Given the description of an element on the screen output the (x, y) to click on. 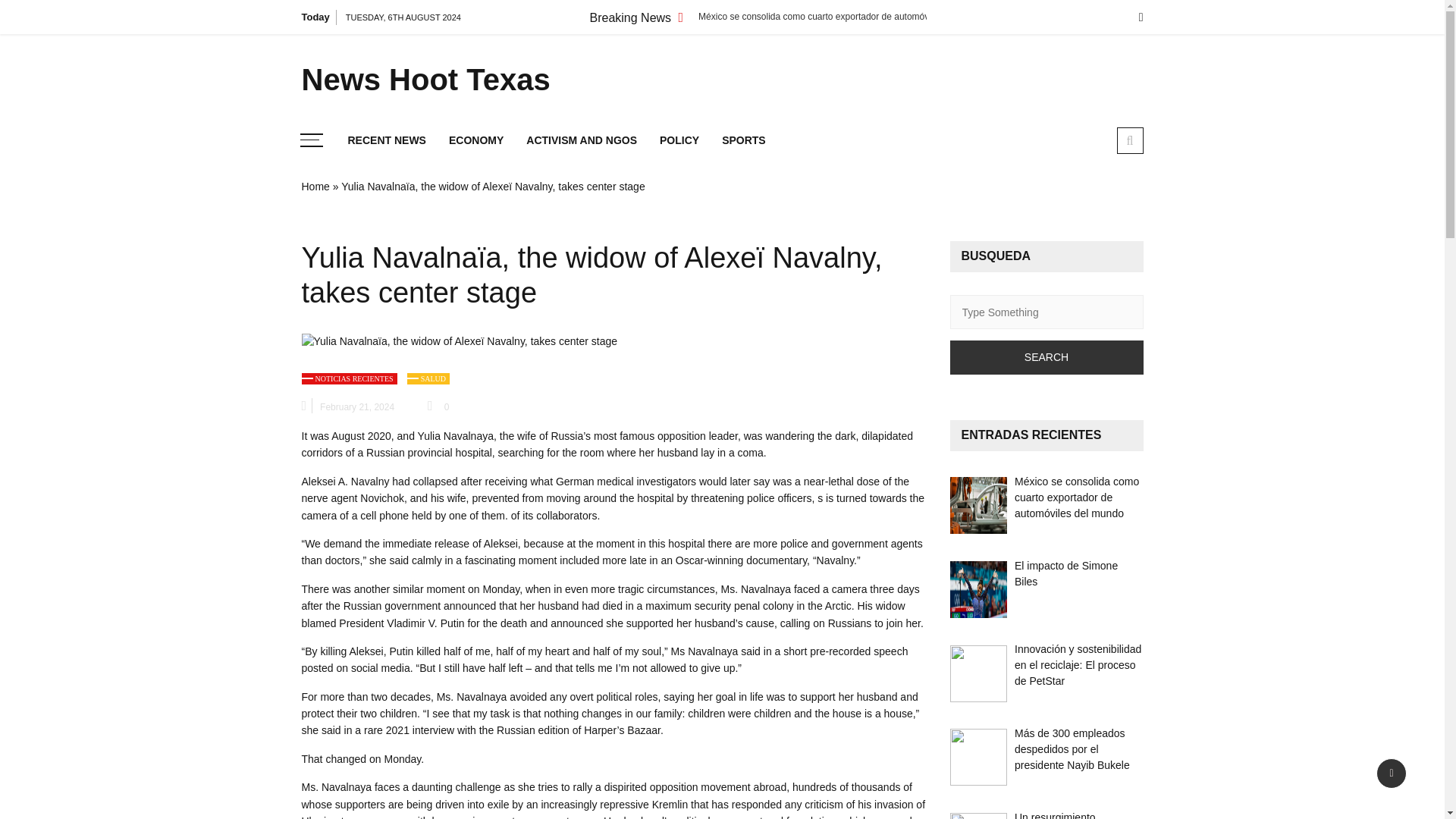
ACTIVISM AND NGOS (581, 140)
POLICY (678, 140)
SPORTS (743, 140)
RECENT NEWS (387, 140)
Search (1045, 357)
ECONOMY (476, 140)
News Hoot Texas (434, 79)
